Given the description of an element on the screen output the (x, y) to click on. 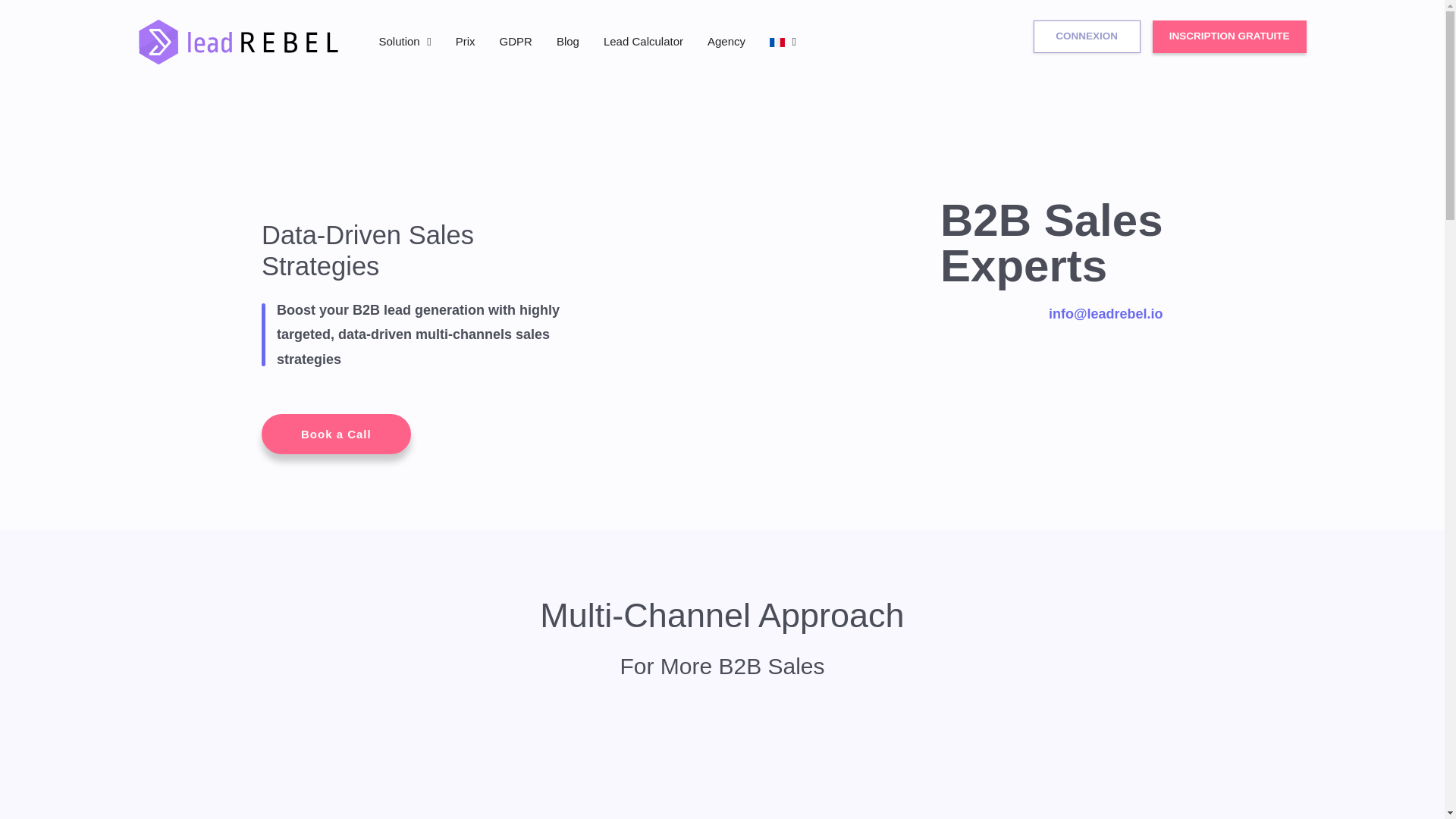
Solution (404, 41)
INSCRIPTION GRATUITE (1229, 36)
Lead Calculator (643, 41)
Book a Call (336, 434)
GDPR (515, 41)
CONNEXION (1086, 36)
Agency (726, 41)
